Given the description of an element on the screen output the (x, y) to click on. 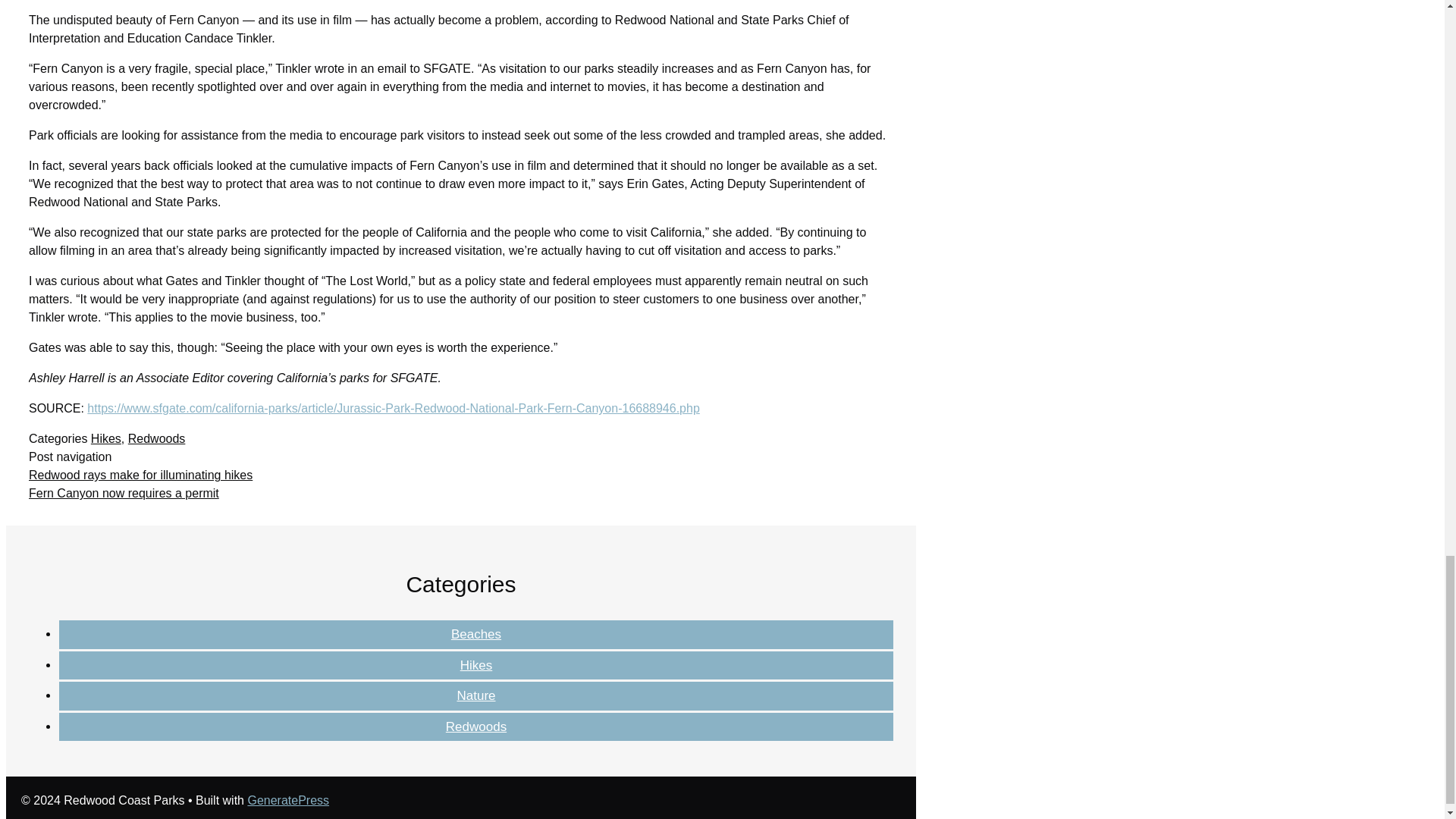
Redwoods (475, 726)
Nature (476, 695)
Redwood rays make for illuminating hikes (140, 474)
GeneratePress (288, 799)
Previous (140, 474)
Next (124, 492)
Beaches (475, 634)
Hikes (105, 438)
Hikes (476, 665)
Fern Canyon now requires a permit (124, 492)
